Given the description of an element on the screen output the (x, y) to click on. 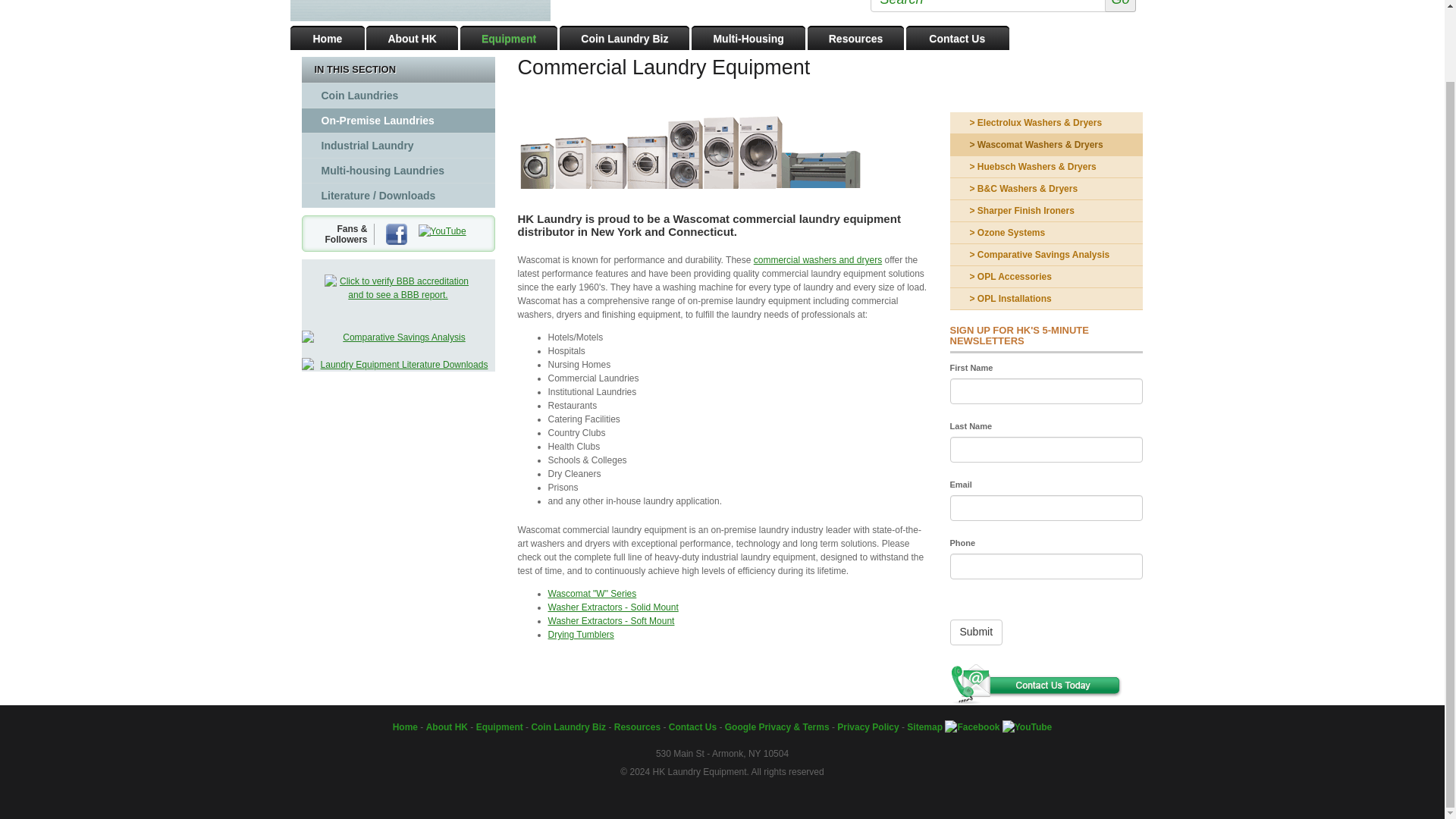
Equipment (508, 37)
Contact Us (957, 37)
Washer Extractors - Solid Mount (612, 606)
Search (1002, 6)
Wascomat "W" Series (591, 593)
Home (327, 37)
About HK (412, 37)
Multi-Housing Laundry Equipment Solutions (748, 37)
Go (1120, 6)
Go to the Sharper Finish Ironers page (1045, 210)
